Given the description of an element on the screen output the (x, y) to click on. 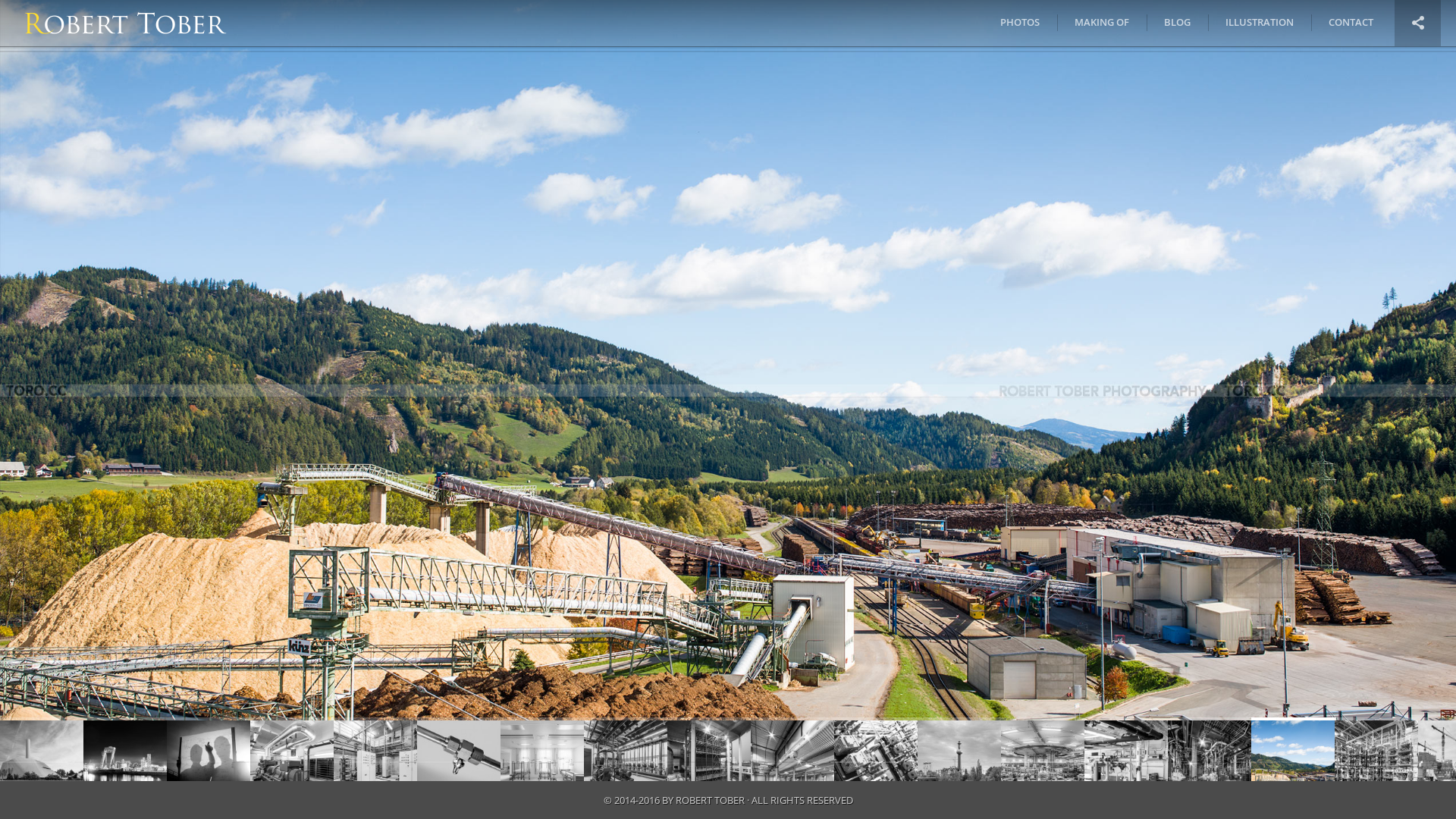
CONTACT Element type: text (1350, 22)
BLOG Element type: text (1176, 22)
PHOTOS Element type: text (1019, 22)
ILLUSTRATION Element type: text (1259, 22)
MAKING OF Element type: text (1101, 22)
